Given the description of an element on the screen output the (x, y) to click on. 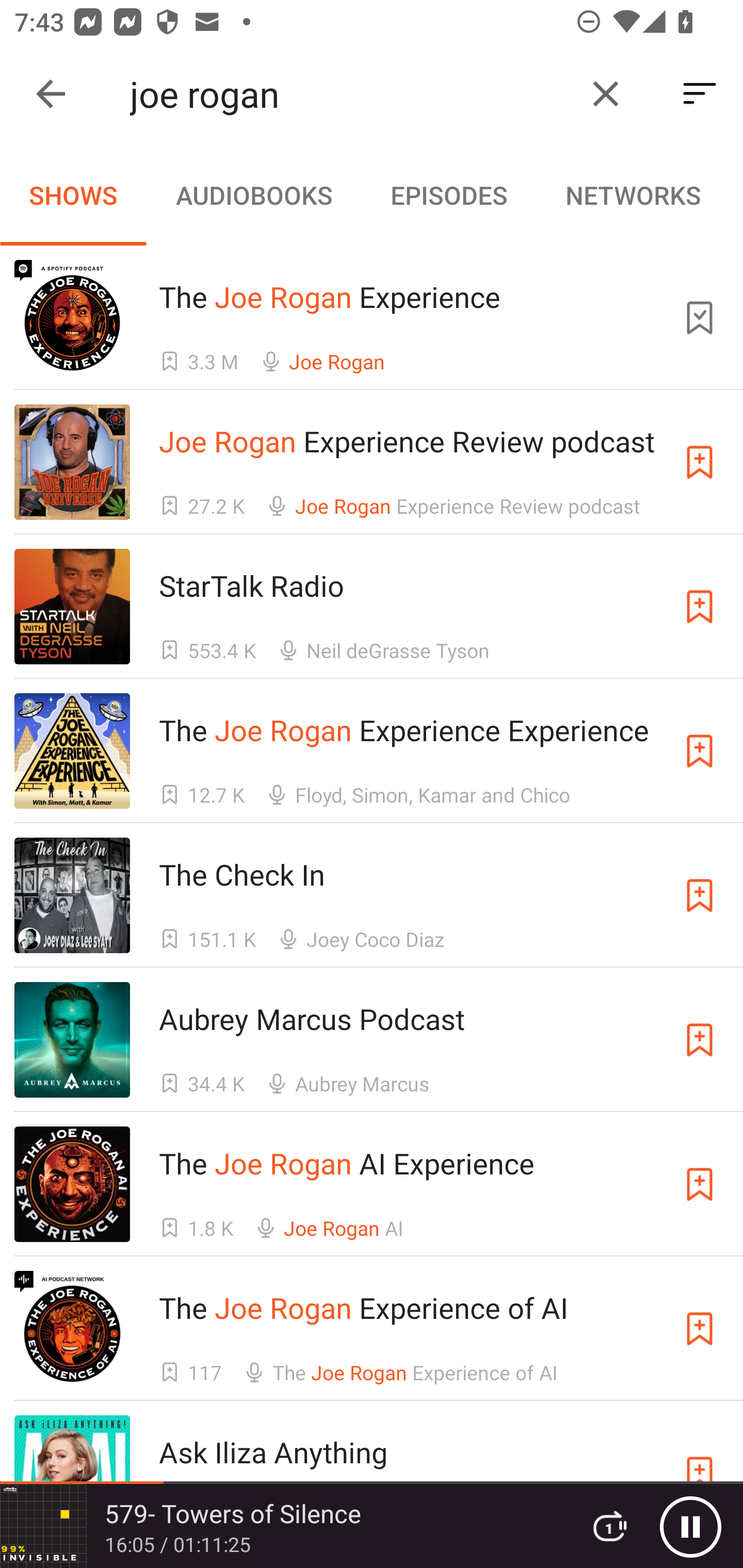
Collapse (50, 93)
Clear query (605, 93)
Sort By (699, 93)
joe rogan (349, 94)
SHOWS (73, 195)
AUDIOBOOKS (253, 195)
EPISODES (448, 195)
NETWORKS (632, 195)
AUDIO (736, 195)
Unsubscribe (699, 317)
Subscribe (699, 462)
Subscribe (699, 606)
Subscribe (699, 751)
Subscribe (699, 895)
Subscribe (699, 1039)
Subscribe (699, 1183)
Subscribe (699, 1328)
579- Towers of Silence 16:05 / 01:11:25 (283, 1525)
Pause (690, 1526)
